Given the description of an element on the screen output the (x, y) to click on. 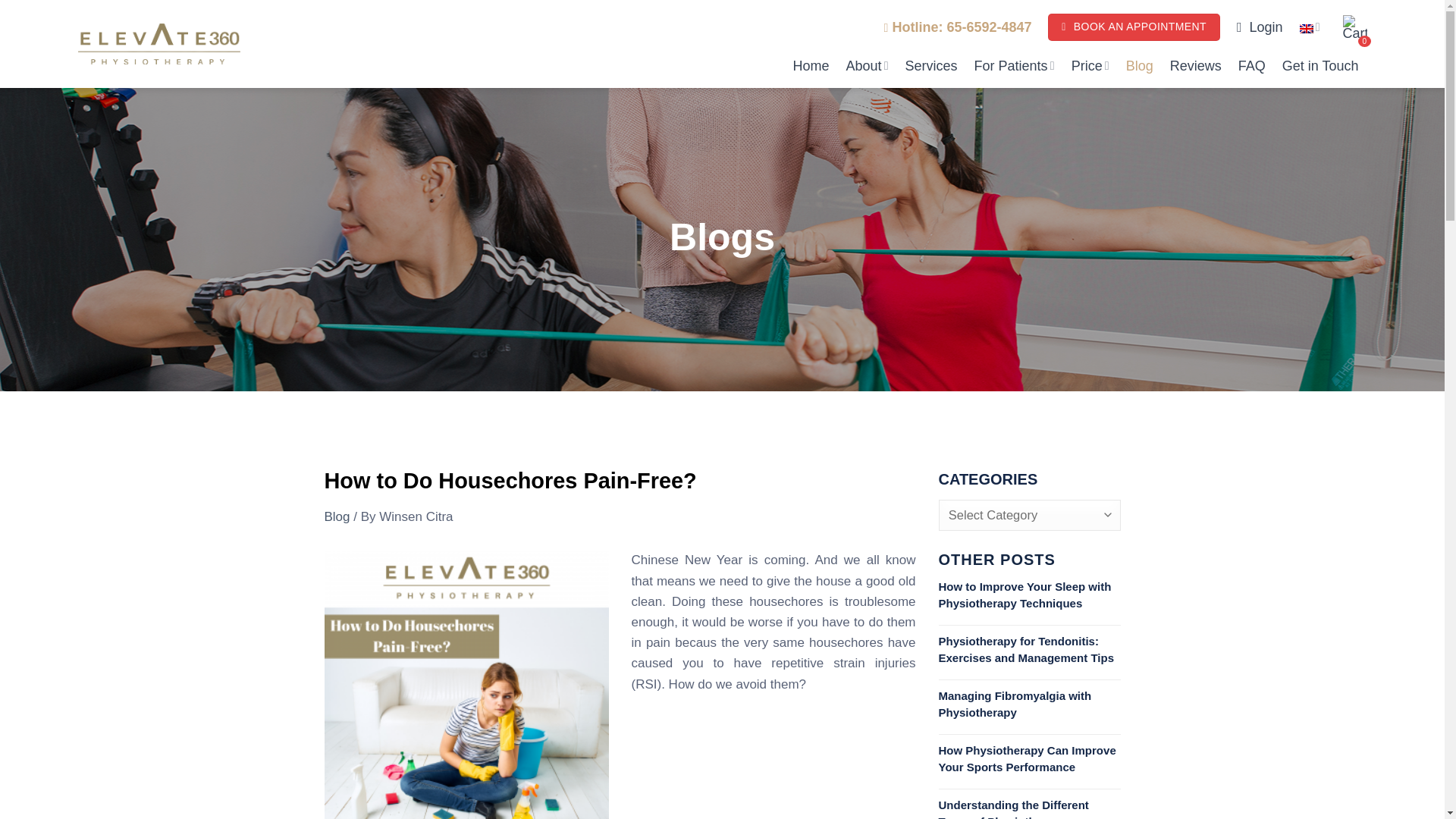
FAQ (1252, 65)
Home (810, 65)
Hotline: 65-6592-4847 (960, 26)
Reviews (1195, 65)
Blog (1139, 65)
BOOK AN APPOINTMENT (1134, 26)
Blog (337, 516)
Blog (337, 516)
Price (1090, 65)
Login (1259, 26)
For Patients (1014, 65)
Get in Touch (1320, 65)
About (866, 65)
Services (931, 65)
Elevate Physiotherapy (158, 43)
